Given the description of an element on the screen output the (x, y) to click on. 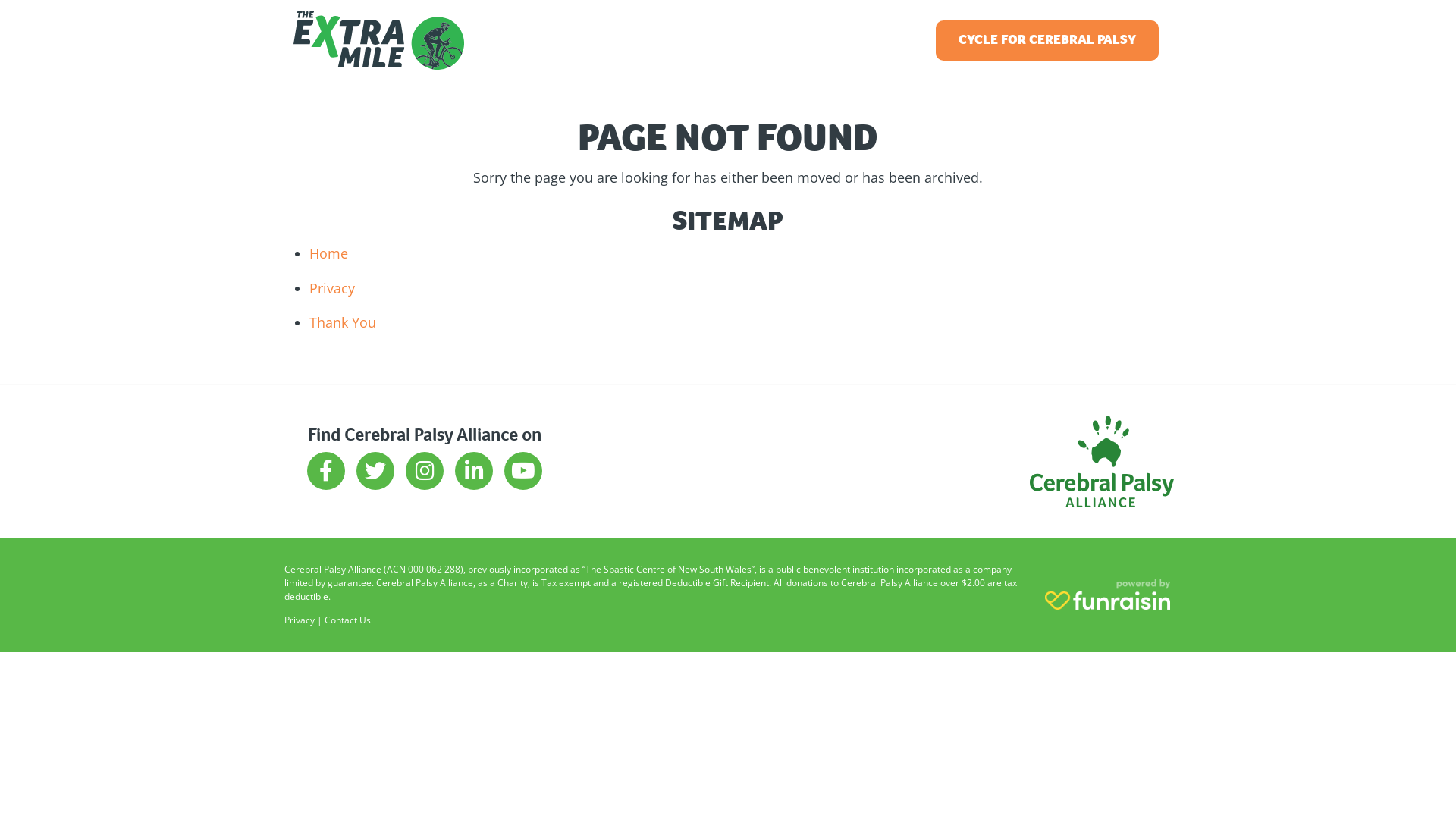
Thank You Element type: text (342, 322)
Privacy Element type: text (299, 619)
Privacy Element type: text (331, 288)
CYCLE FOR CEREBRAL PALSY Element type: text (1046, 40)
Contact Us Element type: text (347, 619)
Home Element type: text (328, 253)
